Given the description of an element on the screen output the (x, y) to click on. 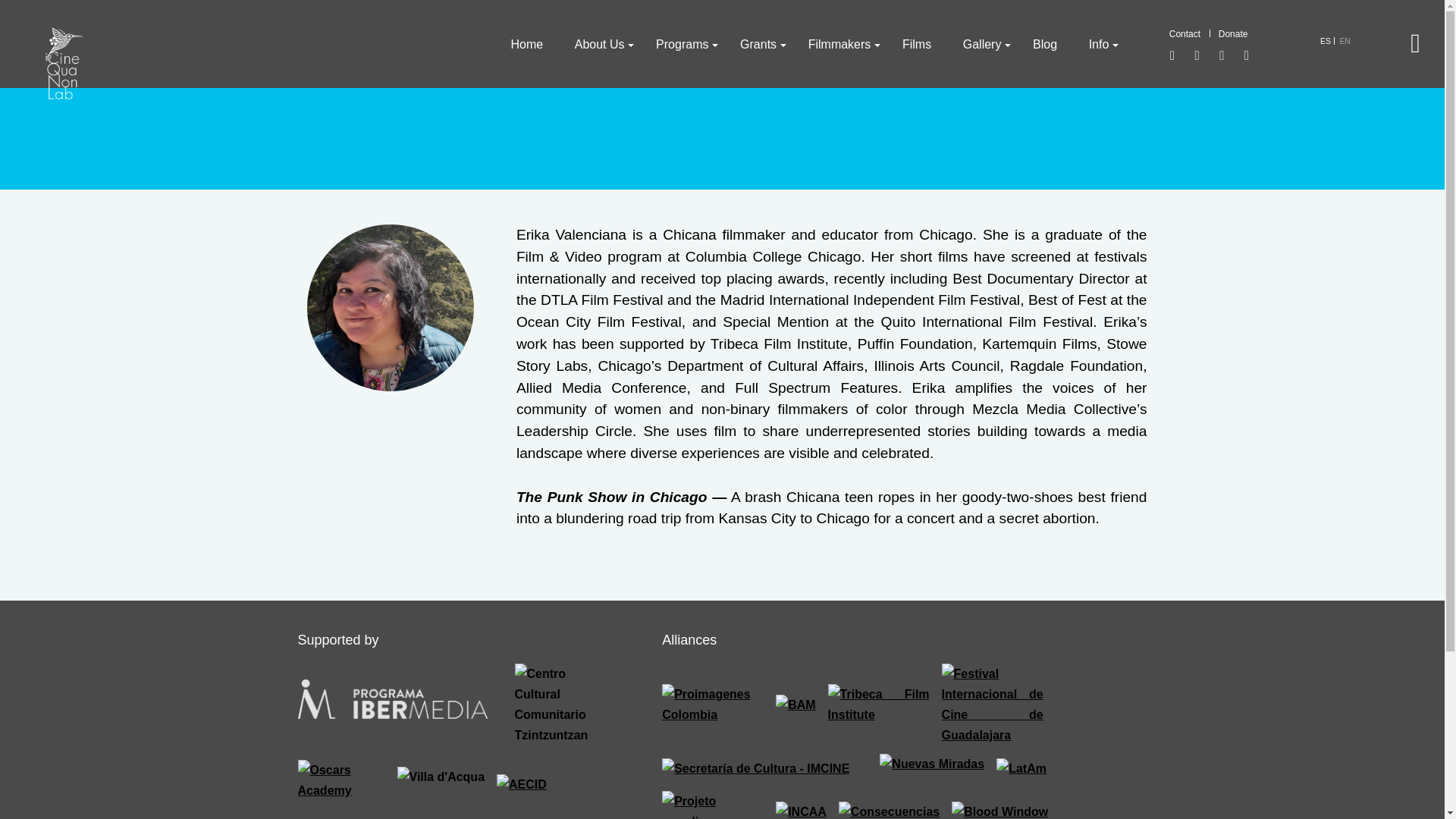
Grants (758, 43)
Filmmakers (838, 43)
Programs (681, 43)
Home (526, 43)
About Us (598, 43)
